Given the description of an element on the screen output the (x, y) to click on. 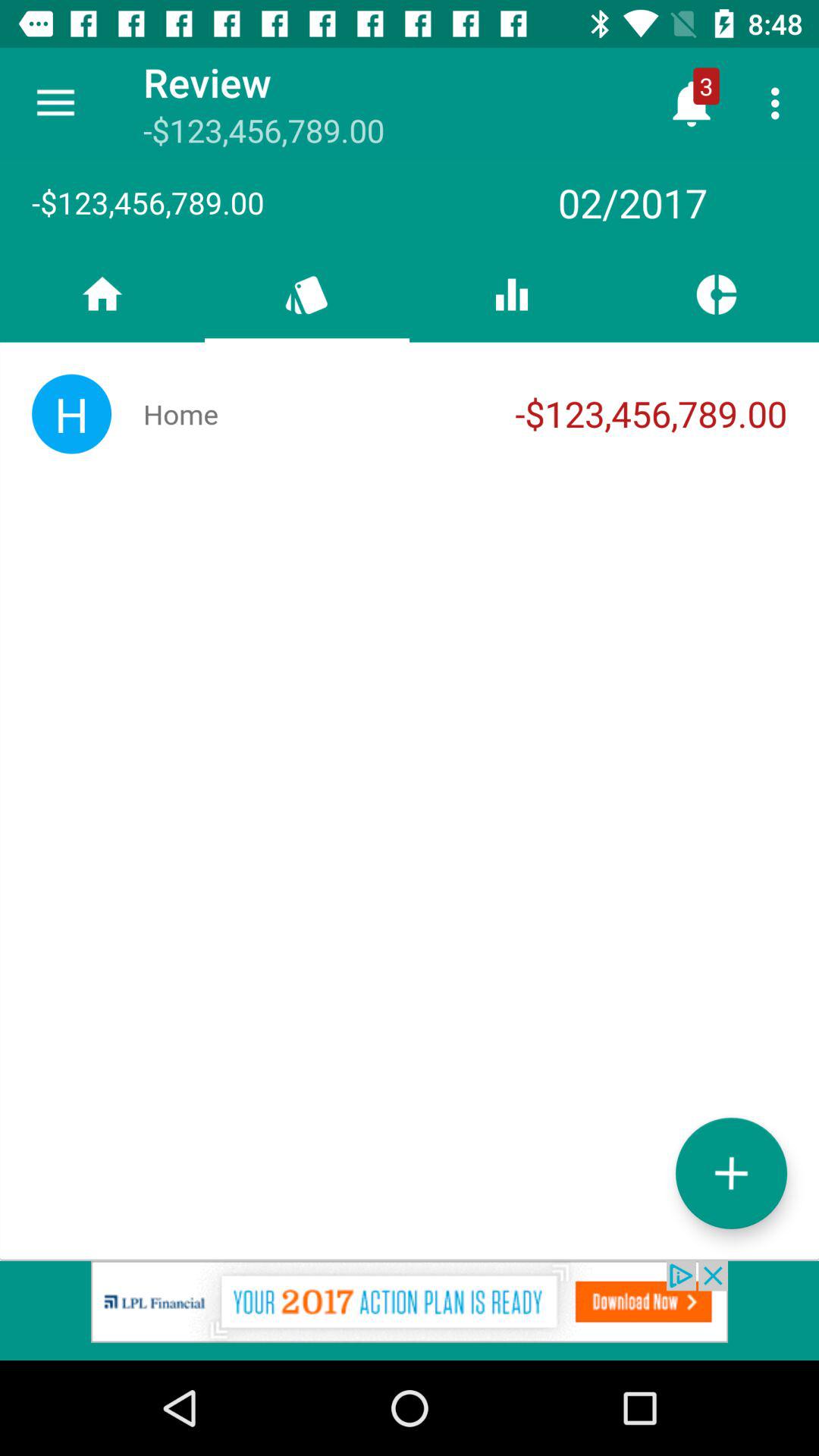
add item (731, 1173)
